Given the description of an element on the screen output the (x, y) to click on. 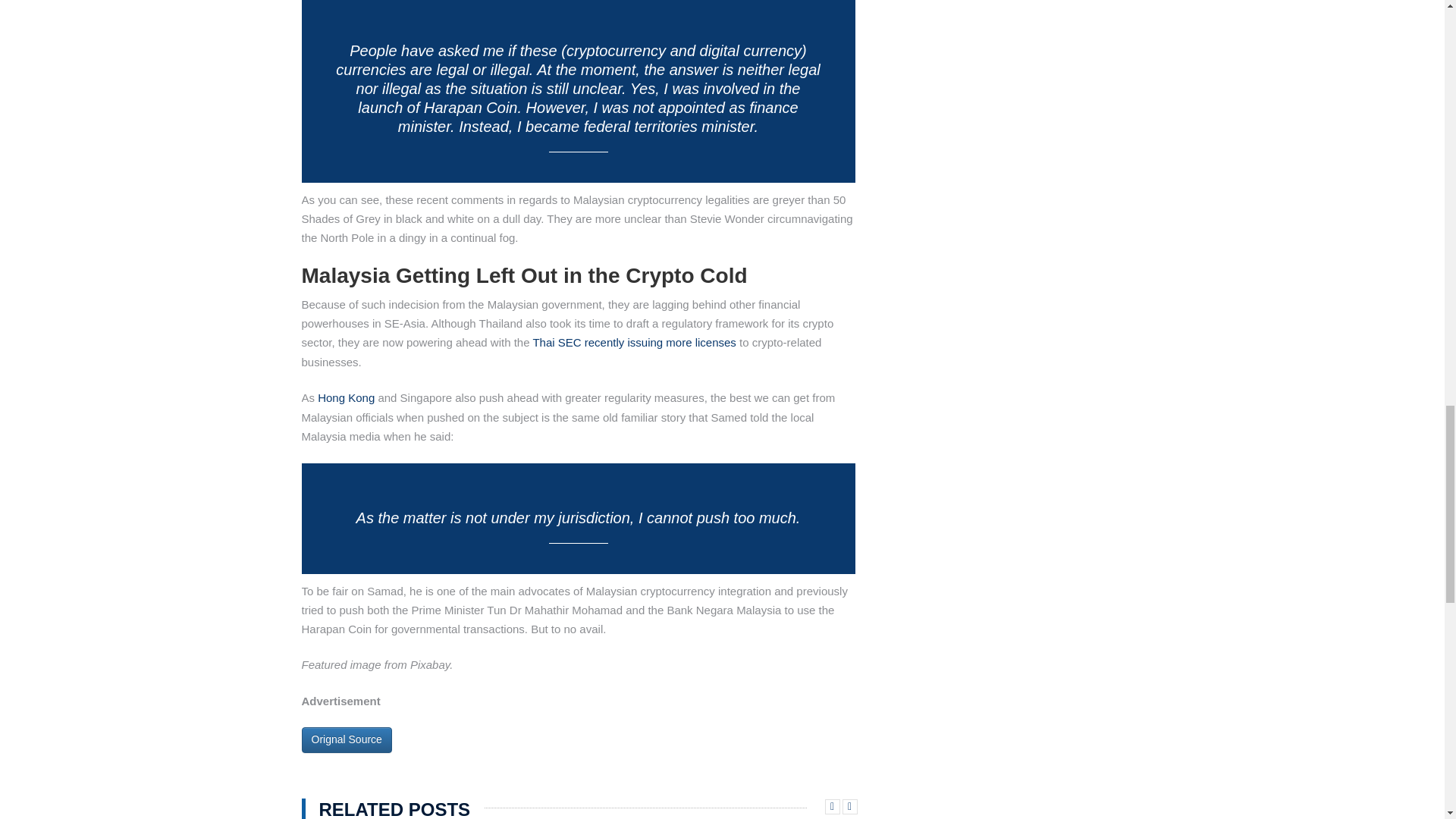
Orignal Source (346, 739)
Hong Kong (345, 397)
Thai SEC recently issuing more licenses (633, 341)
